Given the description of an element on the screen output the (x, y) to click on. 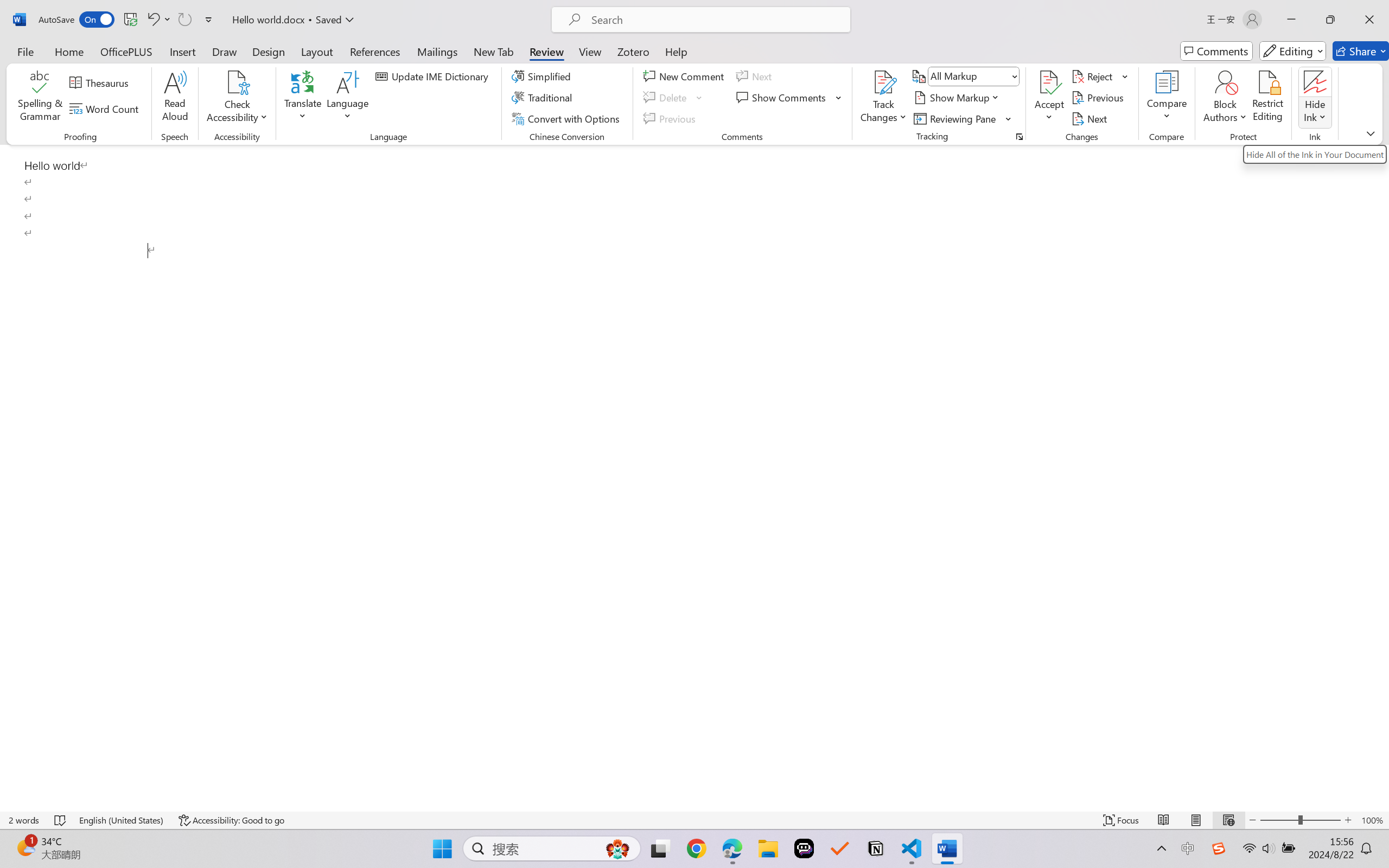
Language English (United States) (121, 819)
Display for Review (973, 75)
OfficePLUS (126, 51)
Comments (1216, 50)
Word Count 2 words (23, 819)
Track Changes (883, 81)
Thesaurus... (101, 82)
Block Authors (1224, 97)
Minimize (1291, 19)
Reviewing Pane (962, 118)
Undo Click and Type Formatting (158, 19)
Accept and Move to Next (1049, 81)
Spelling and Grammar Check No Errors (60, 819)
Block Authors (1224, 81)
Traditional (543, 97)
